Given the description of an element on the screen output the (x, y) to click on. 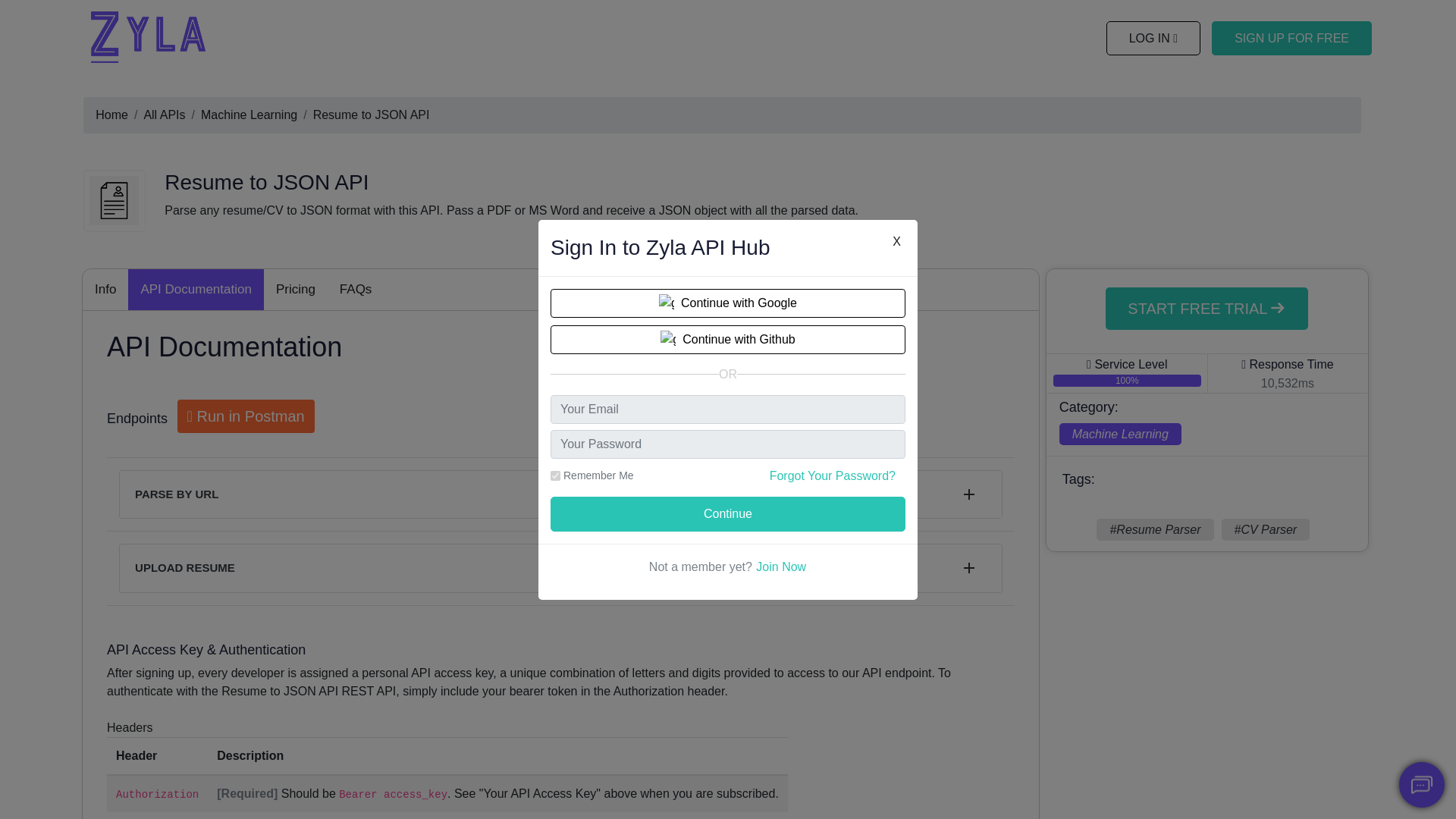
Home (112, 114)
  Continue with Github (727, 338)
Continue (727, 513)
Join Now (780, 567)
LOG IN  (1153, 38)
Run in Postman (245, 416)
Pricing (295, 289)
Info (105, 289)
SIGN UP FOR FREE (1291, 38)
API Documentation (195, 289)
on (555, 475)
PARSE BY URL (561, 494)
All APIs (163, 114)
  Continue with Google (727, 302)
Forgot Your Password? (832, 475)
